Given the description of an element on the screen output the (x, y) to click on. 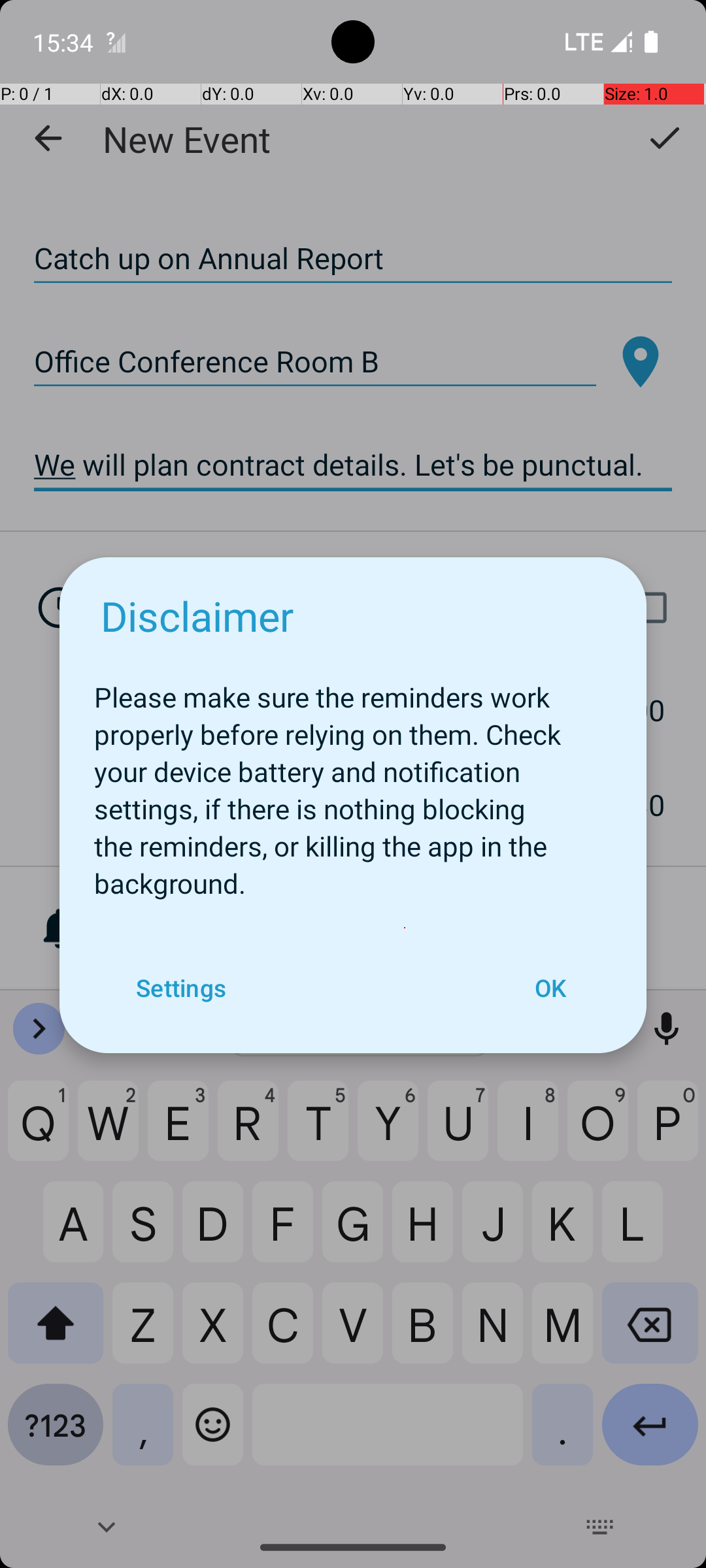
Disclaimer Element type: android.widget.TextView (196, 615)
Please make sure the reminders work properly before relying on them. Check your device battery and notification settings, if there is nothing blocking the reminders, or killing the app in the background. Element type: android.widget.TextView (352, 782)
